Given the description of an element on the screen output the (x, y) to click on. 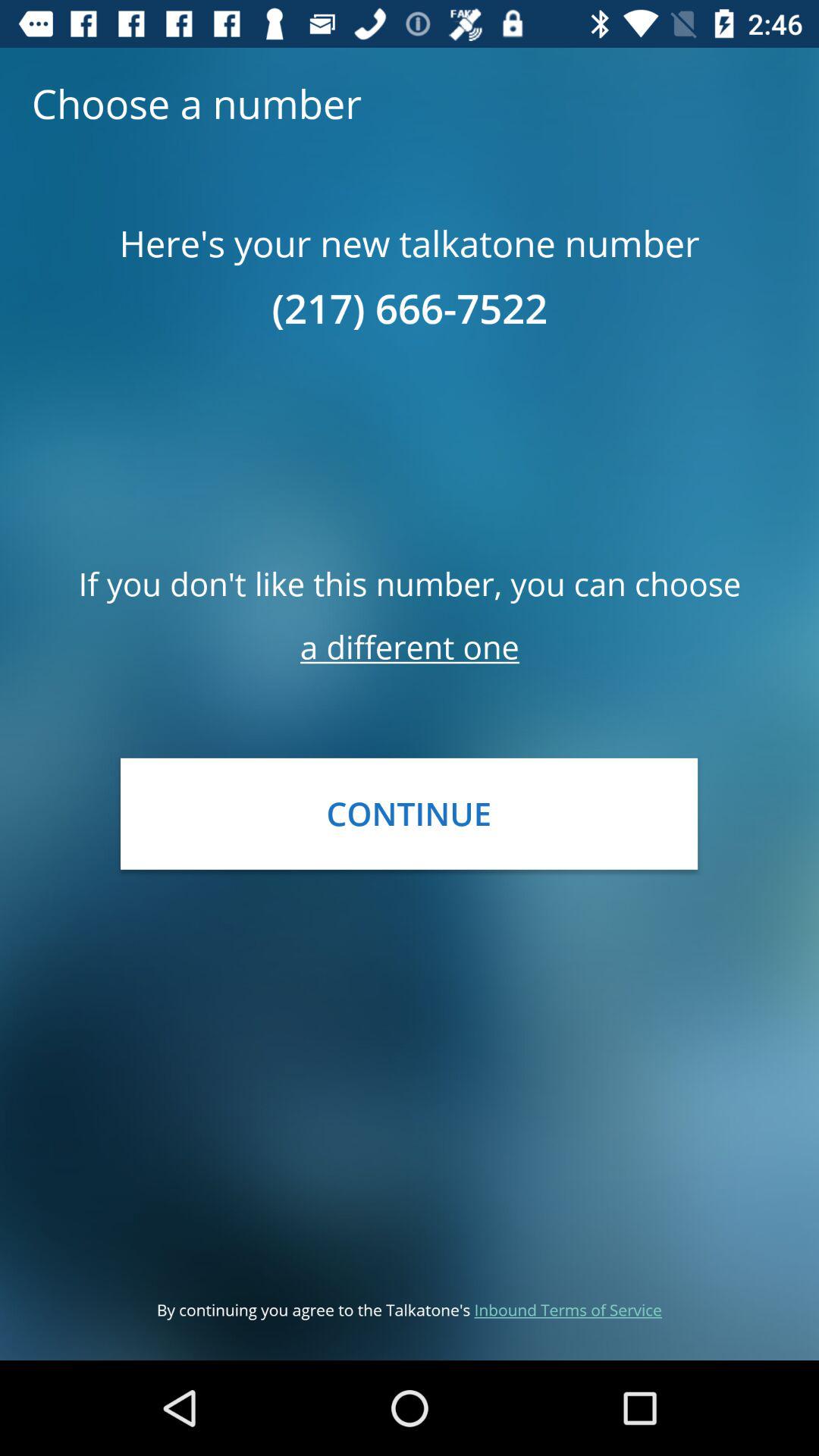
tap the icon below the a different one item (408, 813)
